Given the description of an element on the screen output the (x, y) to click on. 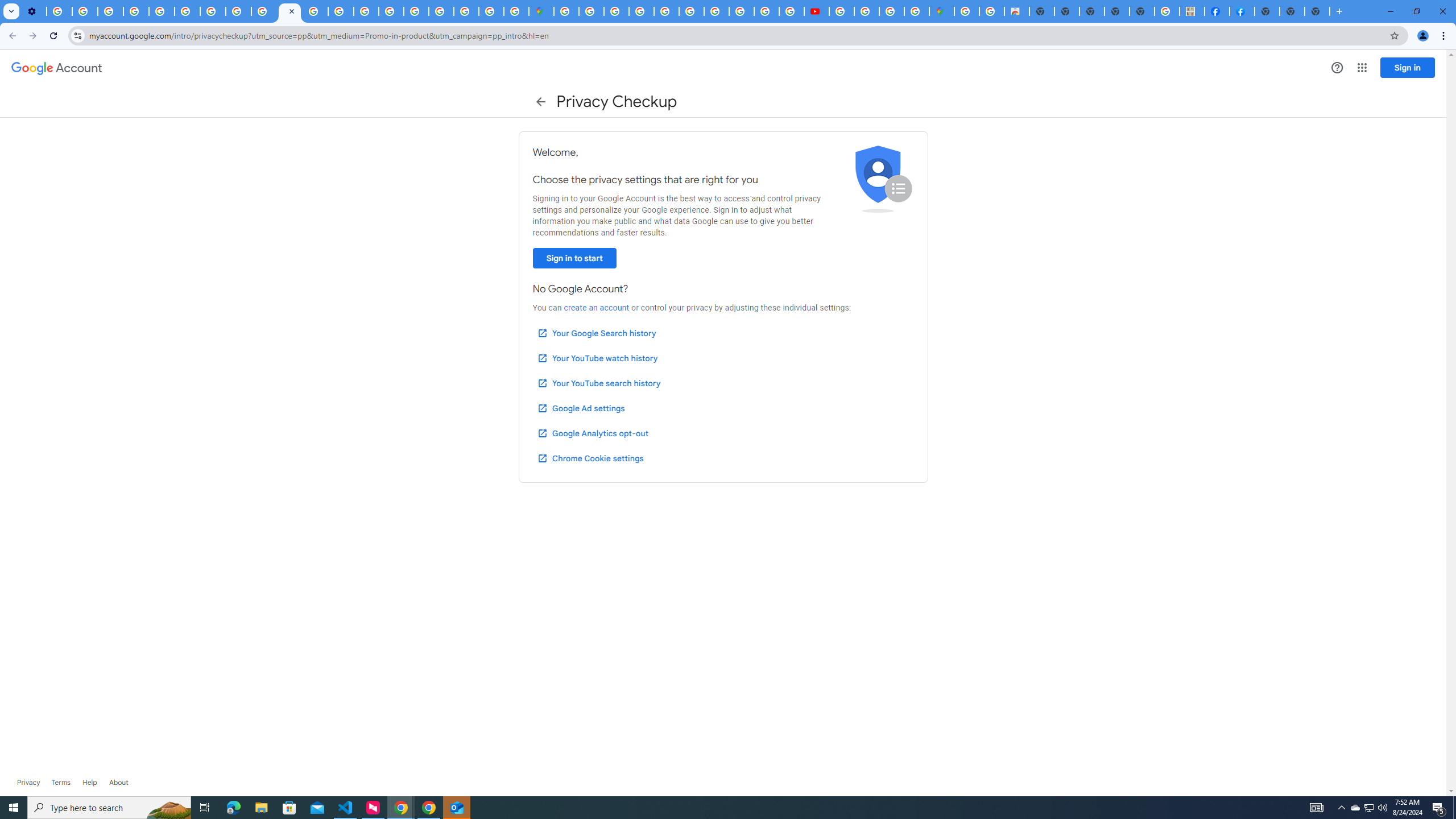
Miley Cyrus | Facebook (1216, 11)
